Given the description of an element on the screen output the (x, y) to click on. 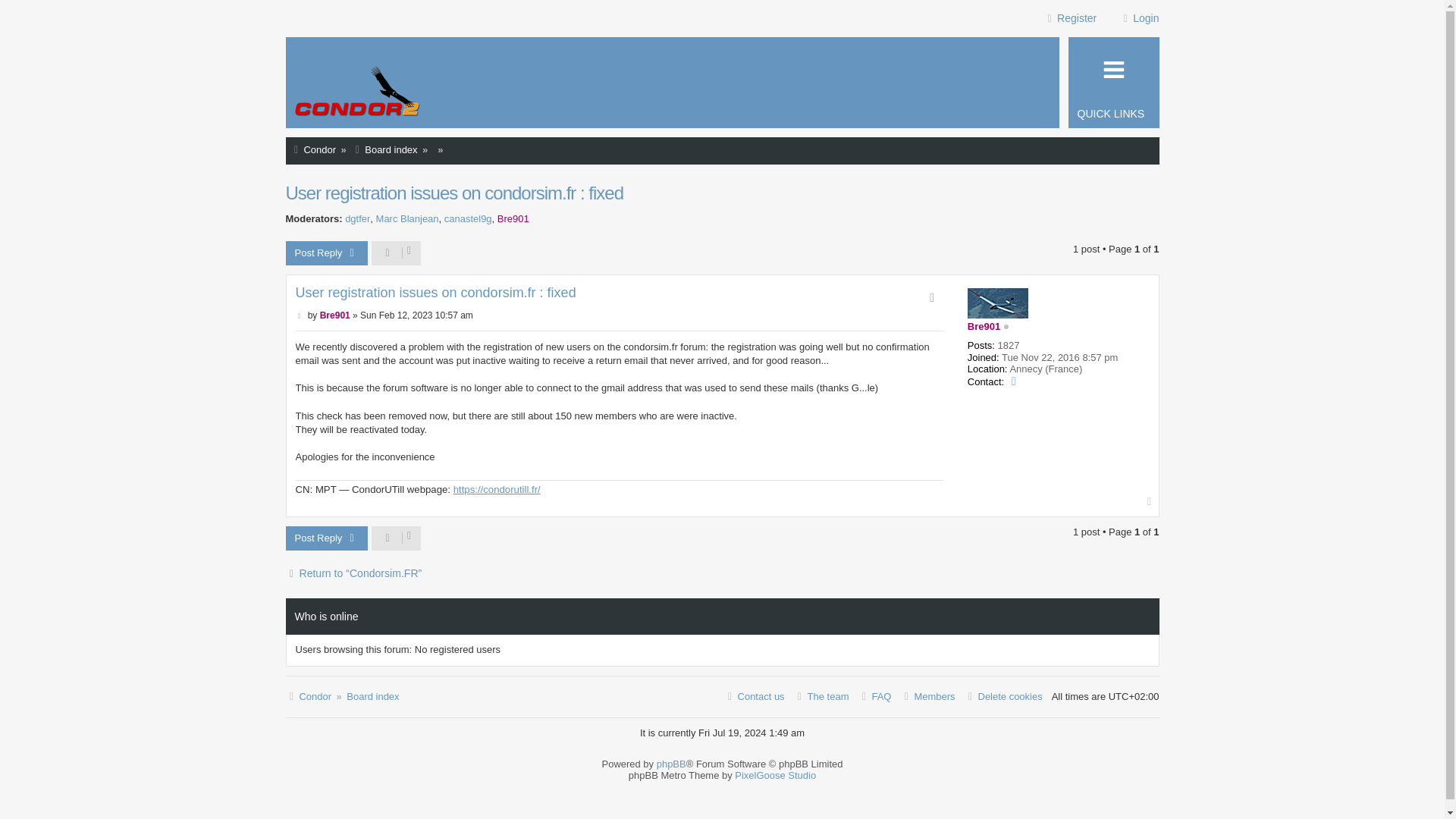
Post a reply (325, 252)
Login (1131, 18)
Marc Blanjean (407, 219)
Contact Bre901 (1015, 381)
Post Reply (325, 538)
Condor (308, 697)
canastel9g (468, 219)
QUICK LINKS (1112, 81)
Bre901 (335, 315)
Topic tools (395, 252)
Quote (931, 297)
dgtfer (357, 219)
Login (1131, 18)
Condor (312, 150)
User registration issues on condorsim.fr : fixed (454, 192)
